Given the description of an element on the screen output the (x, y) to click on. 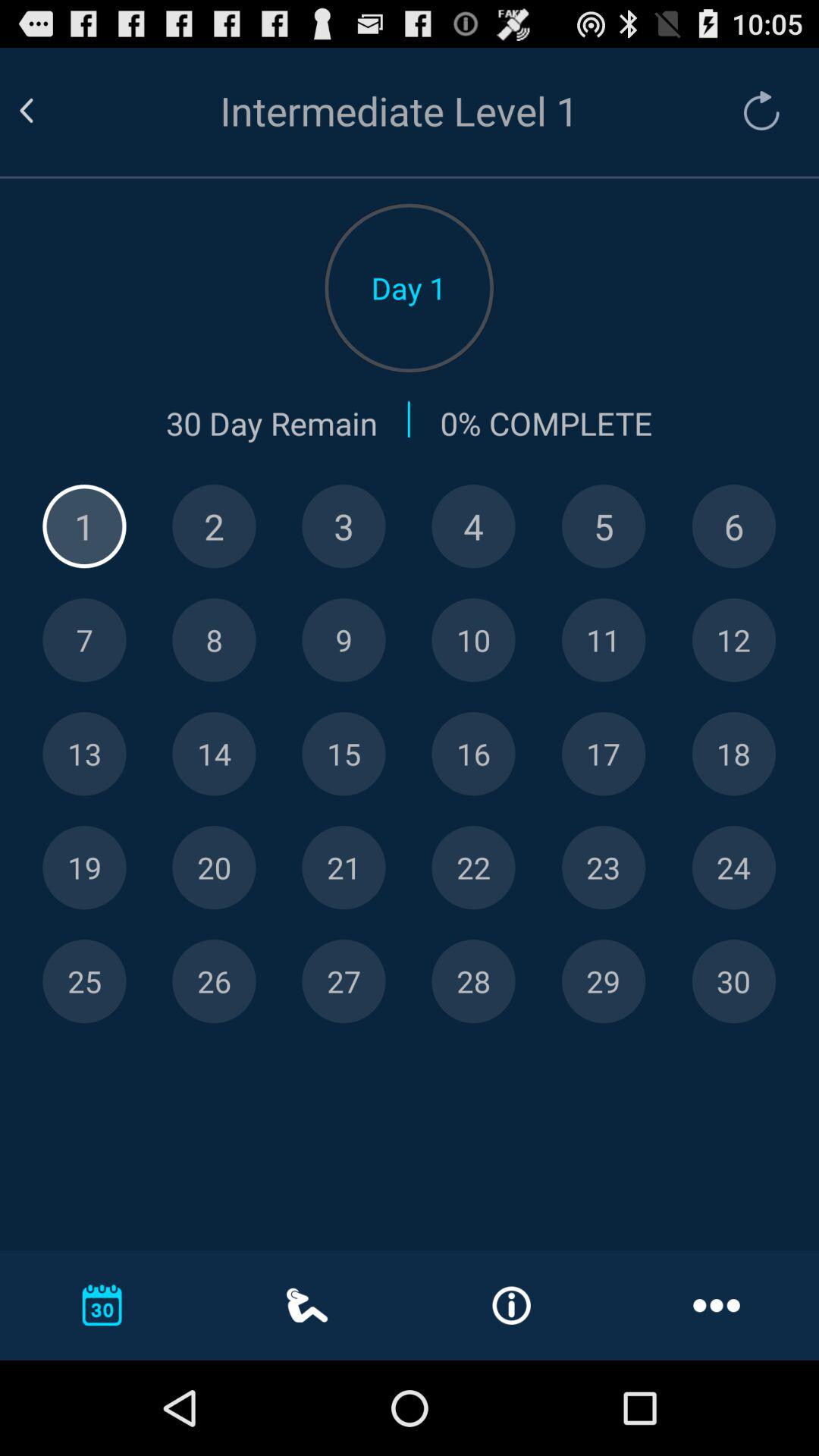
pick day (473, 526)
